Given the description of an element on the screen output the (x, y) to click on. 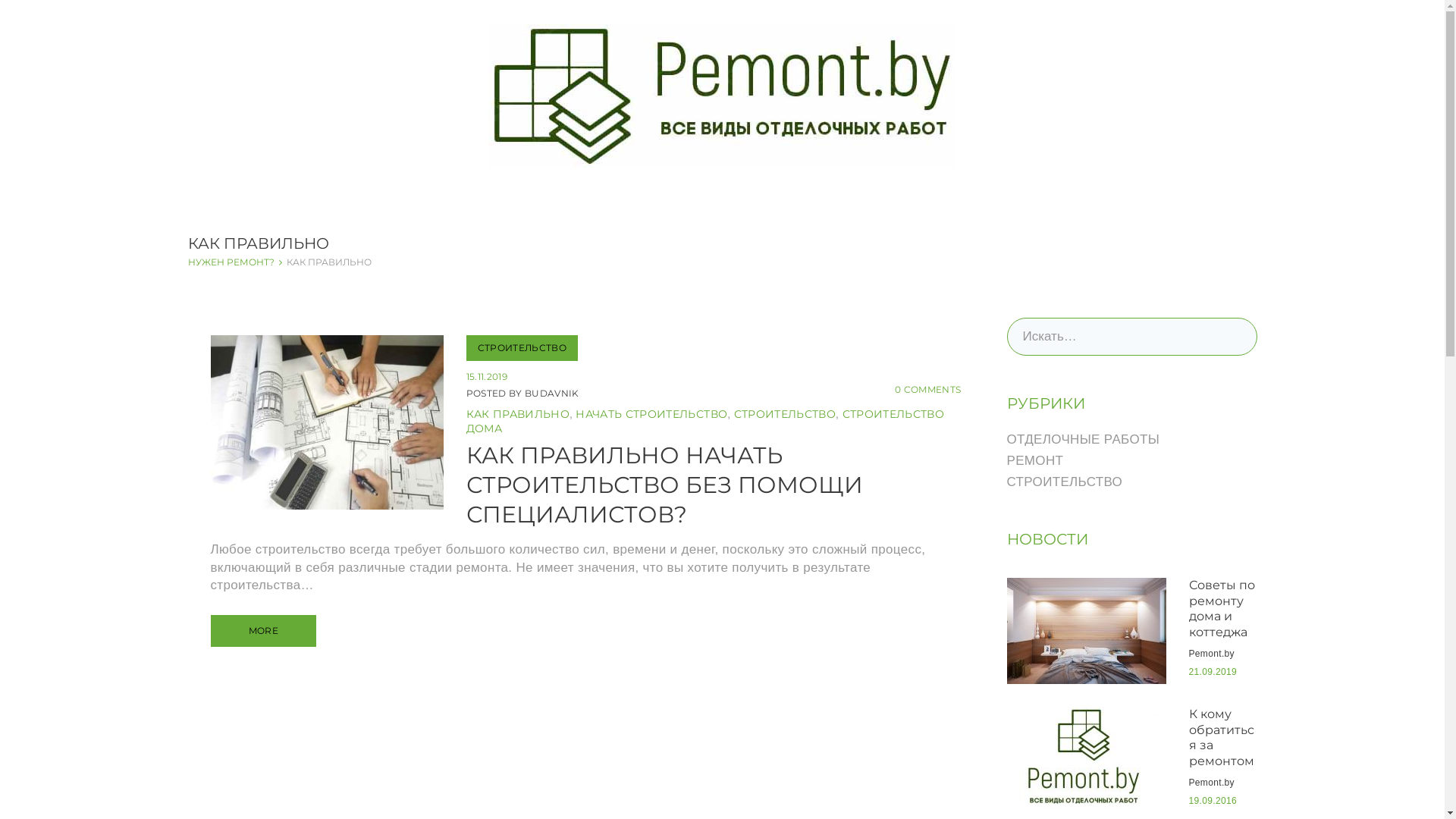
19.09.2016 Element type: text (1212, 800)
Pemont.by Element type: text (1211, 653)
21.09.2019 Element type: text (1212, 671)
Skip to content Element type: text (0, 0)
MORE Element type: text (263, 630)
BUDAVNIK Element type: text (551, 392)
0 COMMENTS Element type: text (927, 389)
15.11.2019 Element type: text (485, 376)
Pemont.by Element type: text (1211, 782)
